Given the description of an element on the screen output the (x, y) to click on. 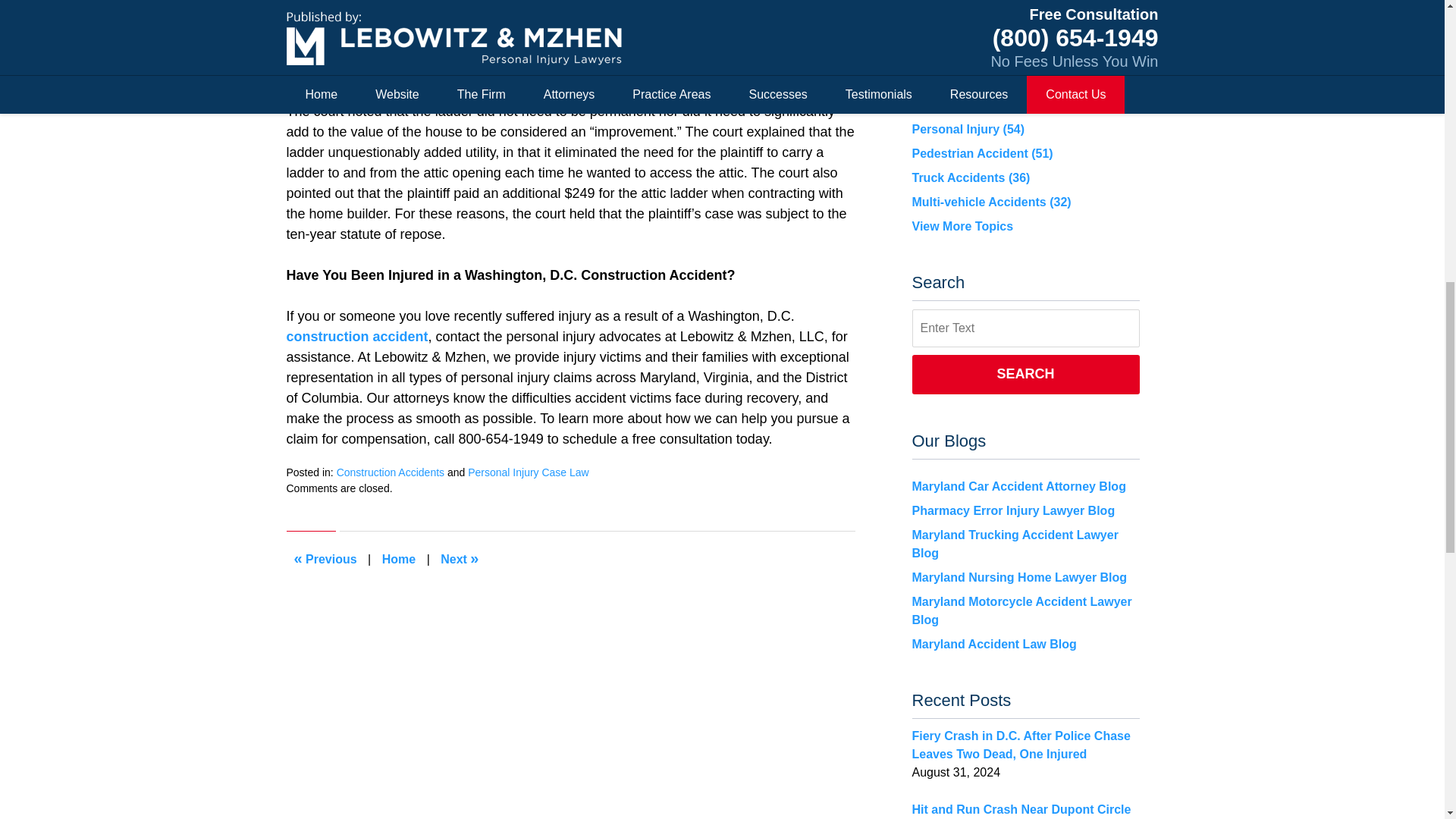
View all posts in Construction Accidents (390, 472)
Home (398, 559)
Personal Injury Case Law (528, 472)
Construction Accidents (390, 472)
View all posts in Personal Injury Case Law (528, 472)
construction accident (357, 336)
